Given the description of an element on the screen output the (x, y) to click on. 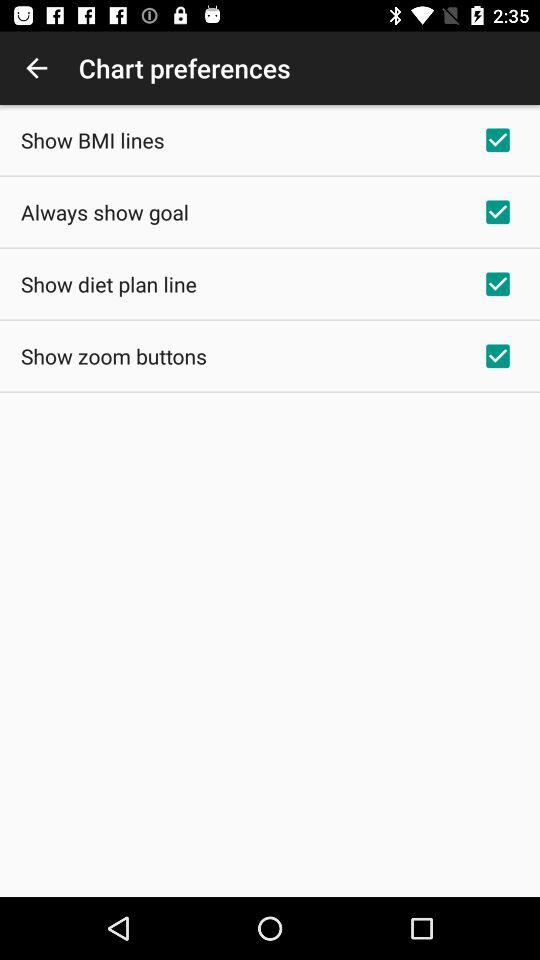
flip to the show bmi lines icon (92, 139)
